Given the description of an element on the screen output the (x, y) to click on. 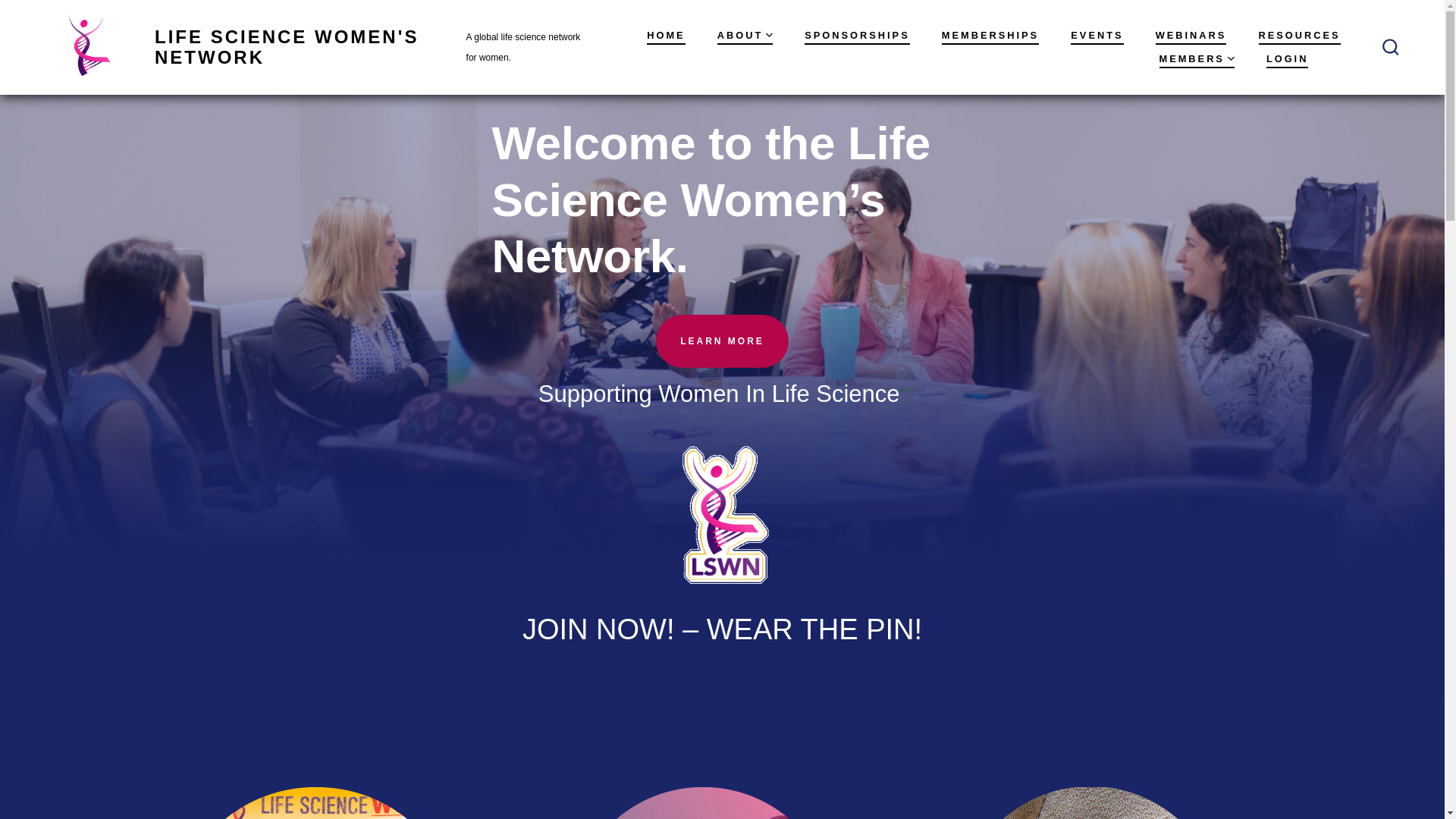
WEBINARS (1191, 35)
ABOUT (745, 35)
SPONSORSHIPS (856, 35)
LEARN MORE (722, 340)
EVENTS (1096, 35)
MEMBERS (1195, 59)
SEARCH TOGGLE (1390, 47)
RESOURCES (1299, 35)
LIFE SCIENCE WOMEN'S NETWORK (281, 47)
Login (1287, 59)
LOGIN (1287, 59)
HOME (665, 35)
MEMBERSHIPS (990, 35)
